Given the description of an element on the screen output the (x, y) to click on. 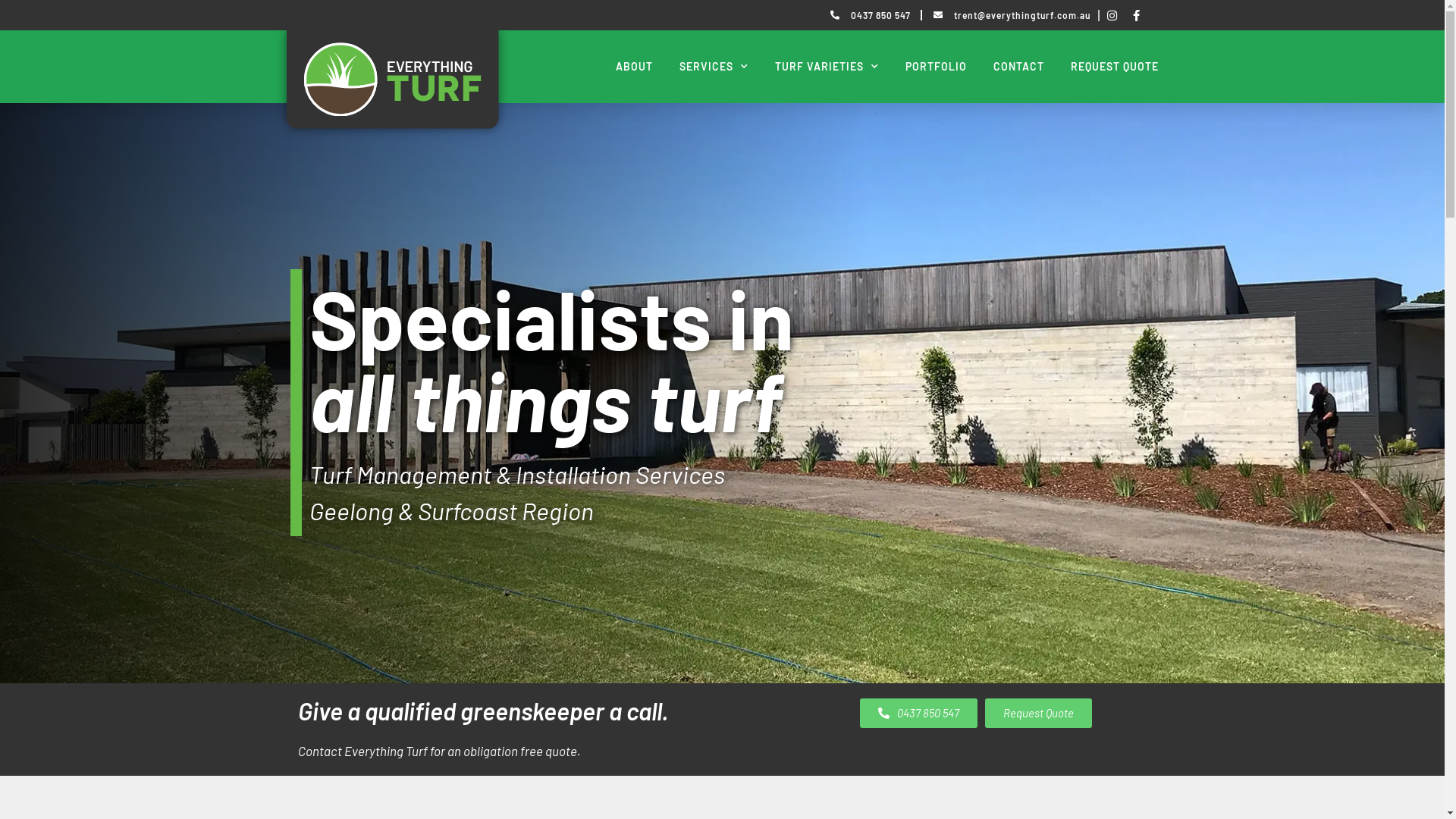
0437 850 547 Element type: text (918, 713)
PORTFOLIO Element type: text (935, 66)
Request Quote Element type: text (1037, 713)
TURF VARIETIES Element type: text (826, 66)
SERVICES Element type: text (713, 66)
REQUEST QUOTE Element type: text (1114, 66)
CONTACT Element type: text (1018, 66)
EverythingTurf_Logo_Standard_White Element type: hover (368, 69)
ABOUT Element type: text (633, 66)
